Given the description of an element on the screen output the (x, y) to click on. 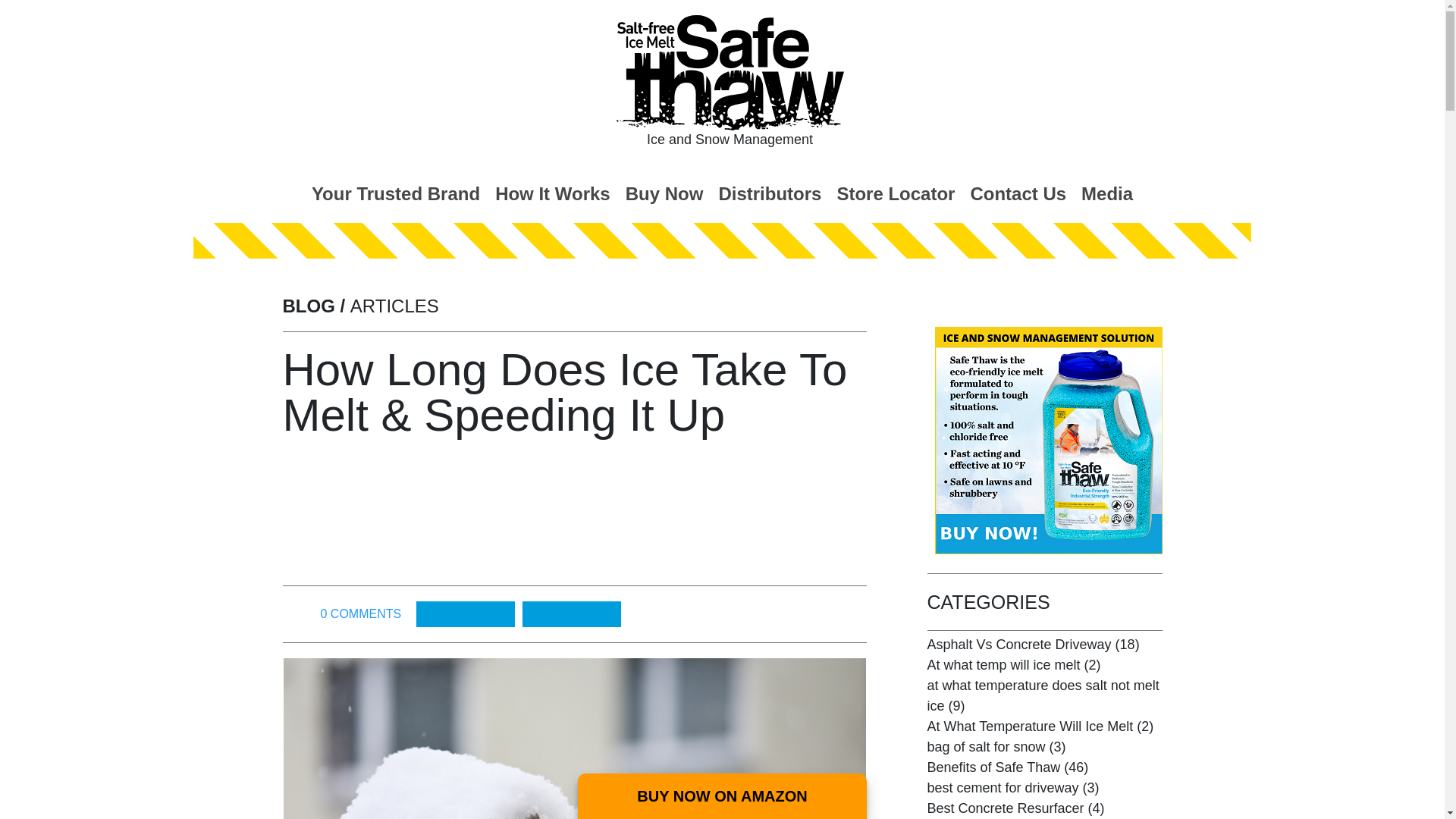
Buy Now (664, 193)
Your Trusted Brand (395, 193)
Store Locator (895, 193)
Asphalt Vs Concrete Driveway (1018, 644)
Media (1106, 193)
Safe Thaw (729, 72)
BLOG (308, 305)
How It Works (552, 193)
Distributors (769, 193)
Contact Us (1017, 193)
